Given the description of an element on the screen output the (x, y) to click on. 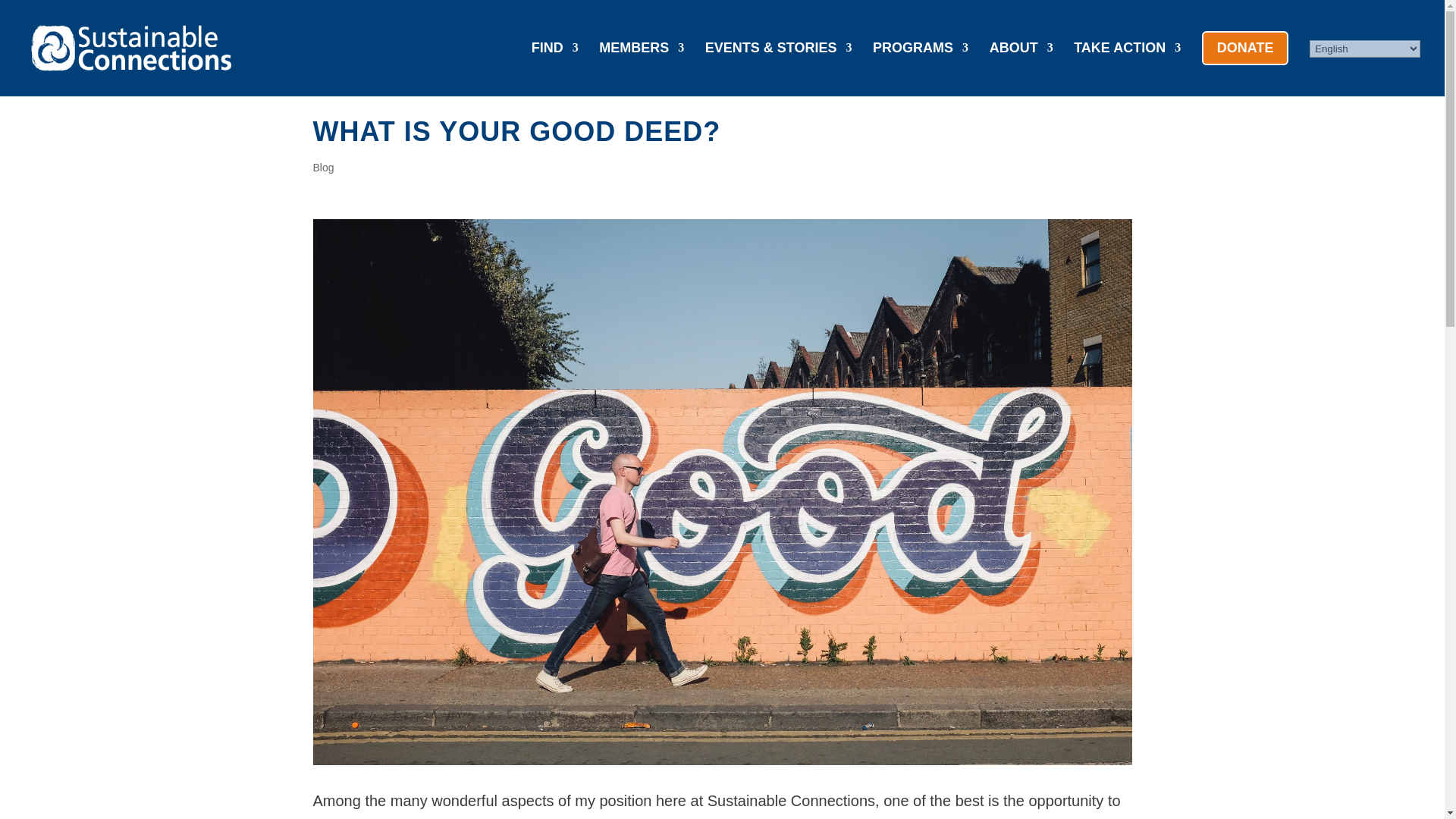
FIND (554, 63)
DONATE (1245, 63)
ABOUT (1021, 63)
PROGRAMS (920, 63)
MEMBERS (641, 63)
TAKE ACTION (1127, 63)
